Given the description of an element on the screen output the (x, y) to click on. 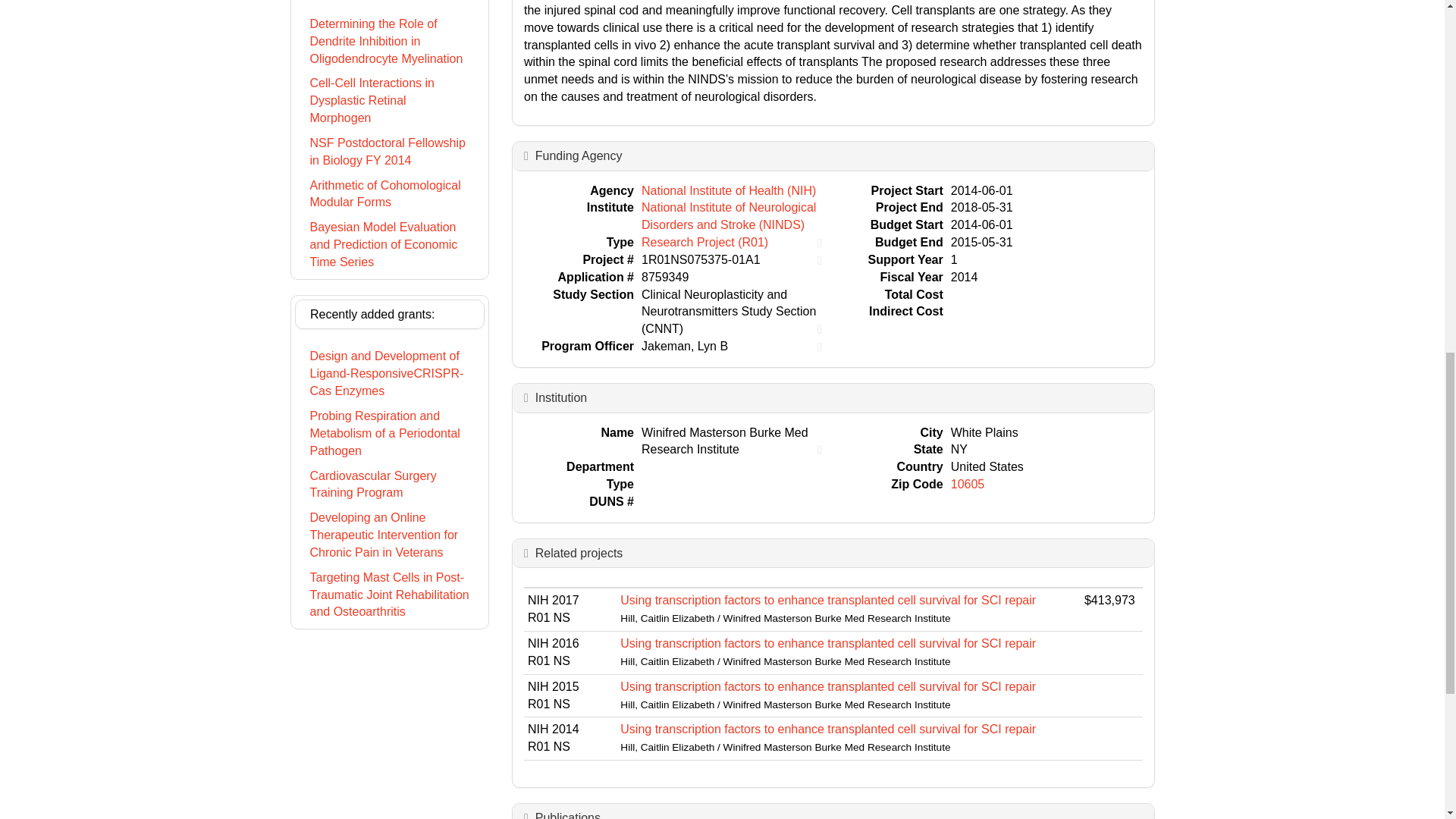
Cell-Cell Interactions in Dysplastic Retinal Morphogen (389, 101)
Probing Respiration and Metabolism of a Periodontal Pathogen (389, 434)
Funding Agency (579, 155)
Arithmetic of Cohomological Modular Forms (389, 194)
Cardiovascular Surgery Training Program (389, 485)
NSF Postdoctoral Fellowship in Biology FY 2014 (389, 152)
